Given the description of an element on the screen output the (x, y) to click on. 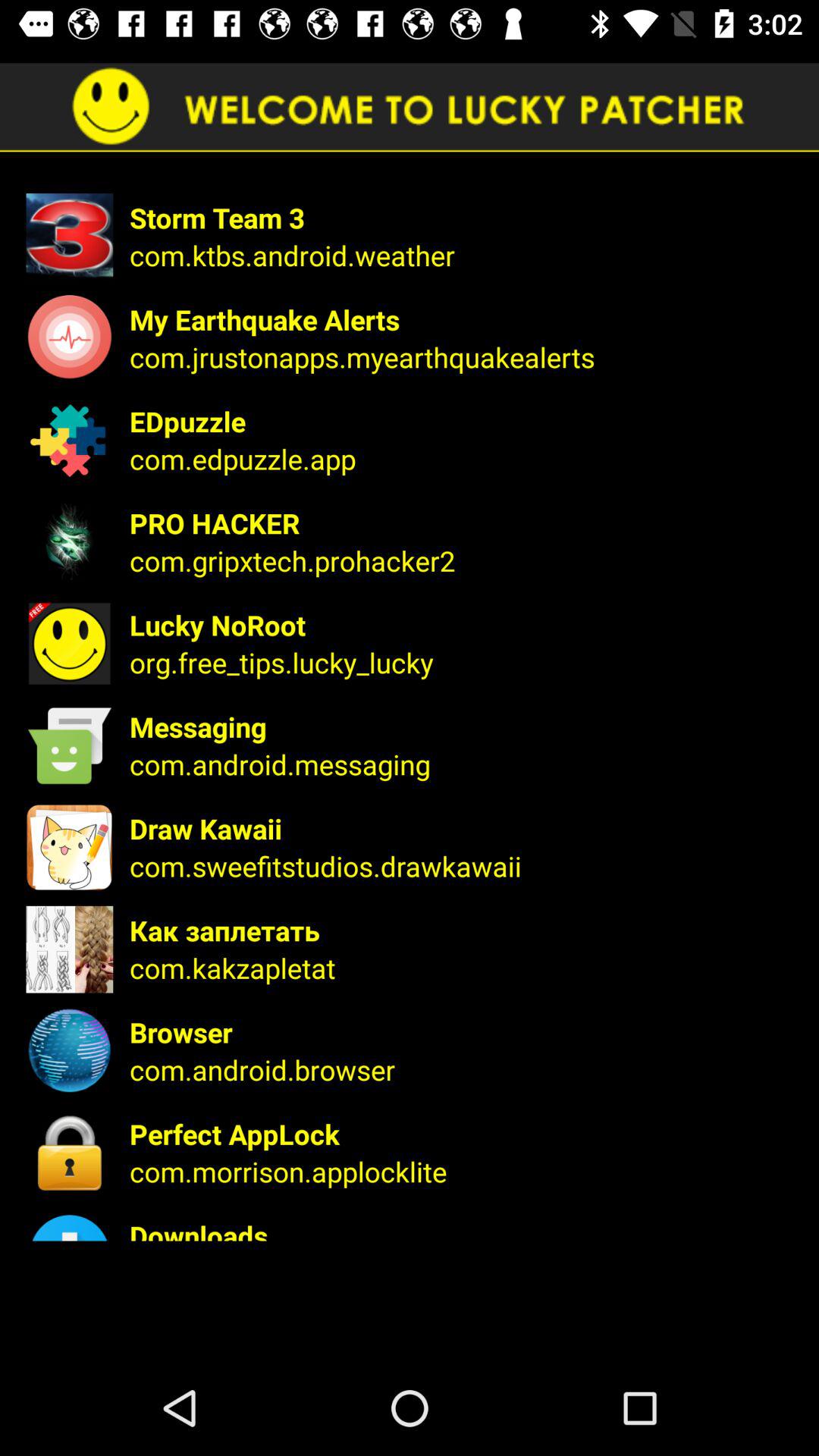
select draw kawaii item (464, 828)
